Given the description of an element on the screen output the (x, y) to click on. 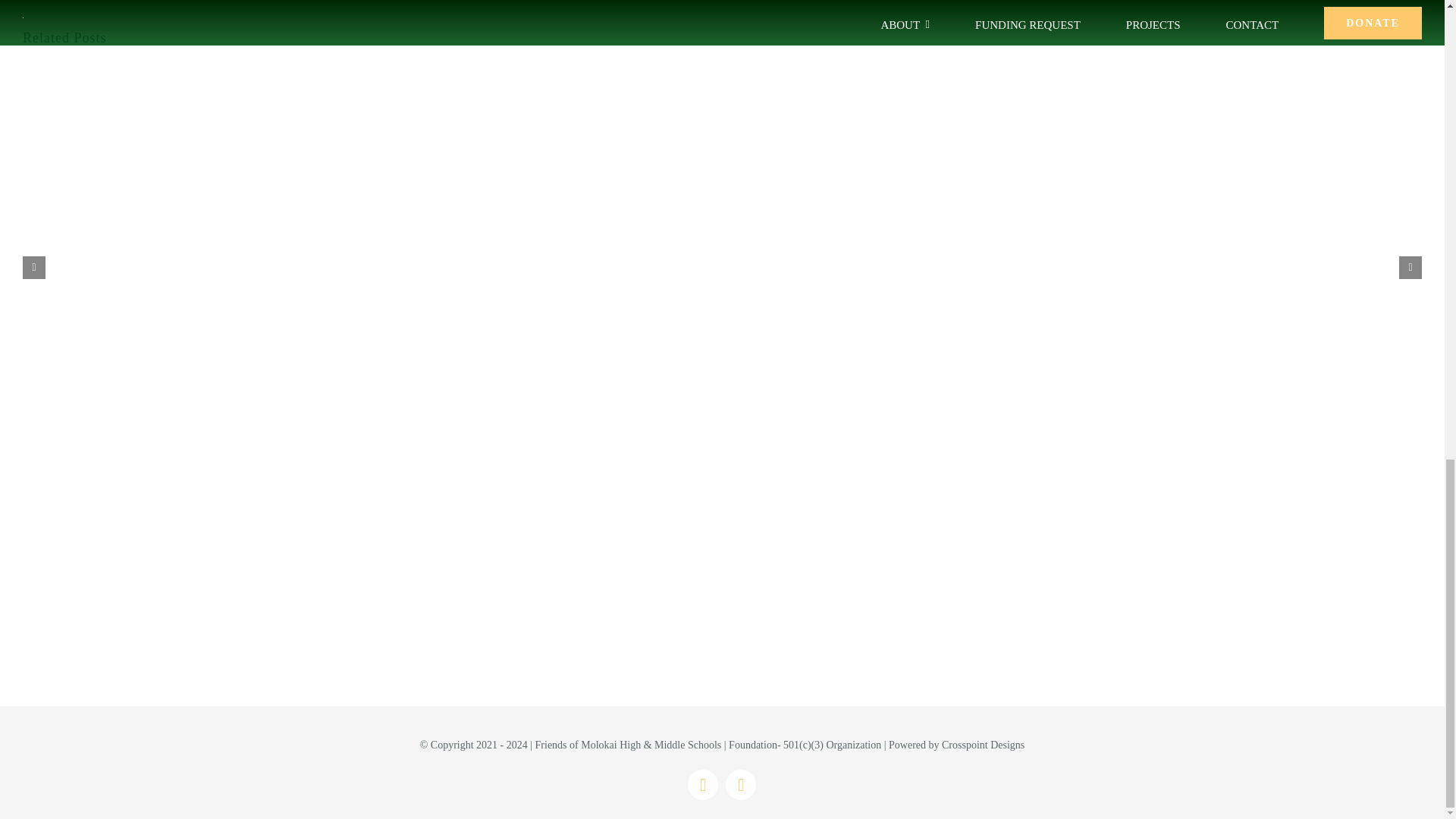
YouTube (740, 784)
newlogo copy (721, 584)
Facebook (702, 784)
